Given the description of an element on the screen output the (x, y) to click on. 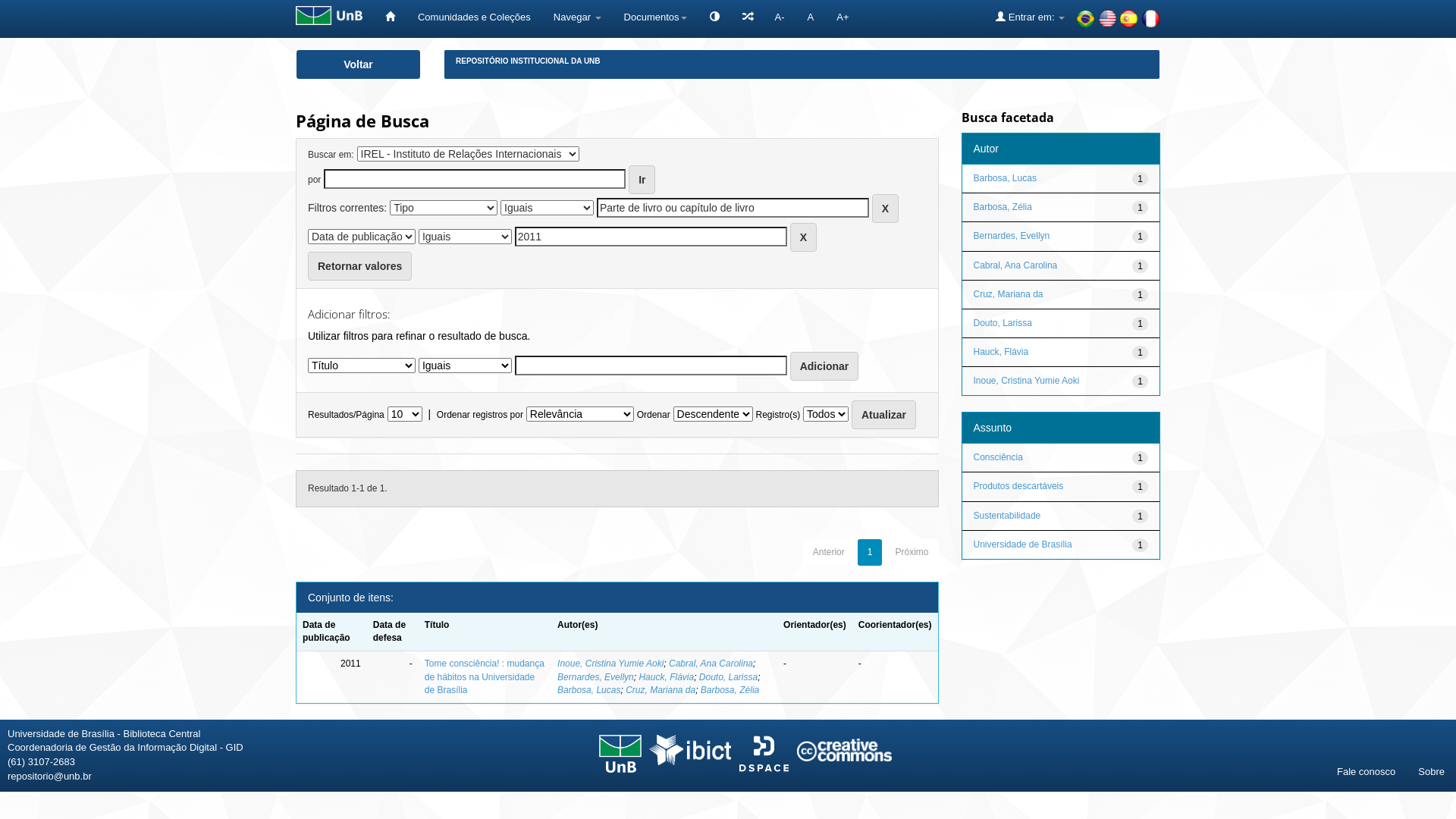
Barbosa, Lucas Element type: text (1004, 177)
Douto, Larissa Element type: text (1002, 322)
Cabral, Ana Carolina Element type: text (1015, 265)
Sustentabilidade Element type: text (1007, 514)
Ir Element type: hover (641, 179)
Documentos Element type: text (655, 17)
Atalhos Element type: hover (747, 17)
Bernardes, Evellyn Element type: text (595, 676)
A Element type: text (810, 17)
Entrar em: Element type: text (1030, 17)
X Element type: text (885, 208)
Adicionar Element type: text (824, 365)
Cabral, Ana Carolina Element type: text (710, 663)
Fale conosco Element type: text (1365, 771)
Retornar valores Element type: text (359, 265)
DSpace Element type: hover (763, 753)
Inoue, Cristina Yumie Aoki Element type: text (1026, 380)
Creative Commons Element type: hover (844, 749)
A- Element type: text (779, 17)
Alto contraste Element type: hover (714, 18)
X Element type: text (803, 236)
English Element type: hover (1107, 18)
A+ Element type: text (842, 17)
Douto, Larissa Element type: text (728, 676)
Bernardes, Evellyn Element type: text (1011, 235)
Inoue, Cristina Yumie Aoki Element type: text (610, 663)
Cruz, Mariana da Element type: text (1008, 293)
Voltar Element type: text (357, 64)
Barbosa, Lucas Element type: text (588, 689)
Navegar Element type: text (577, 17)
Adicionar Element type: hover (824, 365)
Atualizar Element type: text (883, 414)
Cruz, Mariana da Element type: text (660, 689)
Ir Element type: text (641, 179)
Atualizar Element type: hover (883, 414)
